Given the description of an element on the screen output the (x, y) to click on. 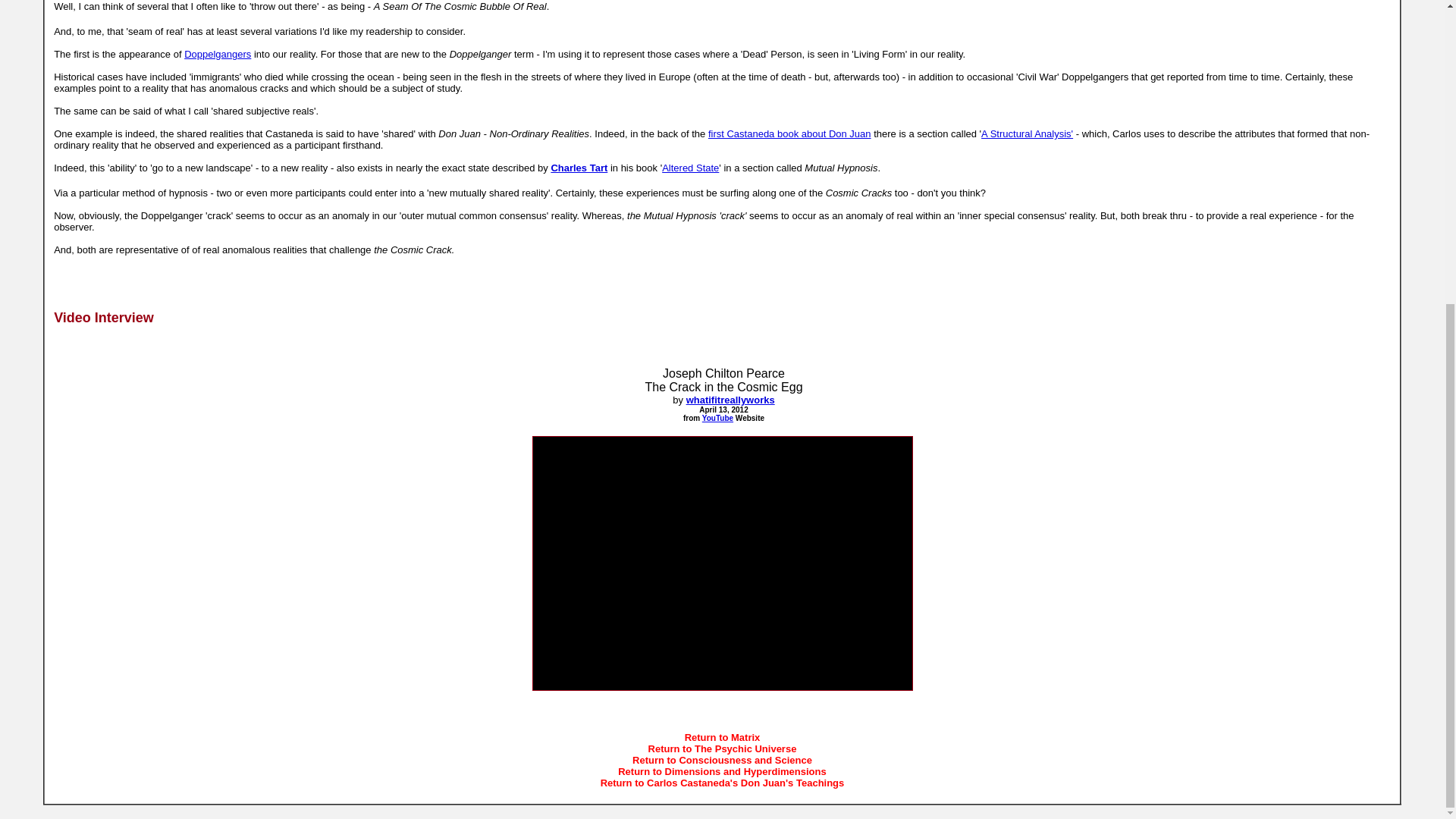
first Castaneda book about Don Juan (788, 133)
Return to Matrix (722, 737)
The Crack in the Cosmic Egg (723, 386)
Charles Tart (578, 167)
A Structural Analysis' (1027, 133)
whatifitreallyworks (729, 399)
YouTube (717, 418)
Return to Carlos Castaneda's Don Juan's Teachings (721, 782)
Doppelgangers (217, 53)
Altered State (690, 167)
Return to The Psychic Universe (721, 748)
Joseph Chilton Pearce (723, 373)
Return to Consciousness and Science (721, 759)
Return to Dimensions and Hyperdimensions (722, 771)
